Given the description of an element on the screen output the (x, y) to click on. 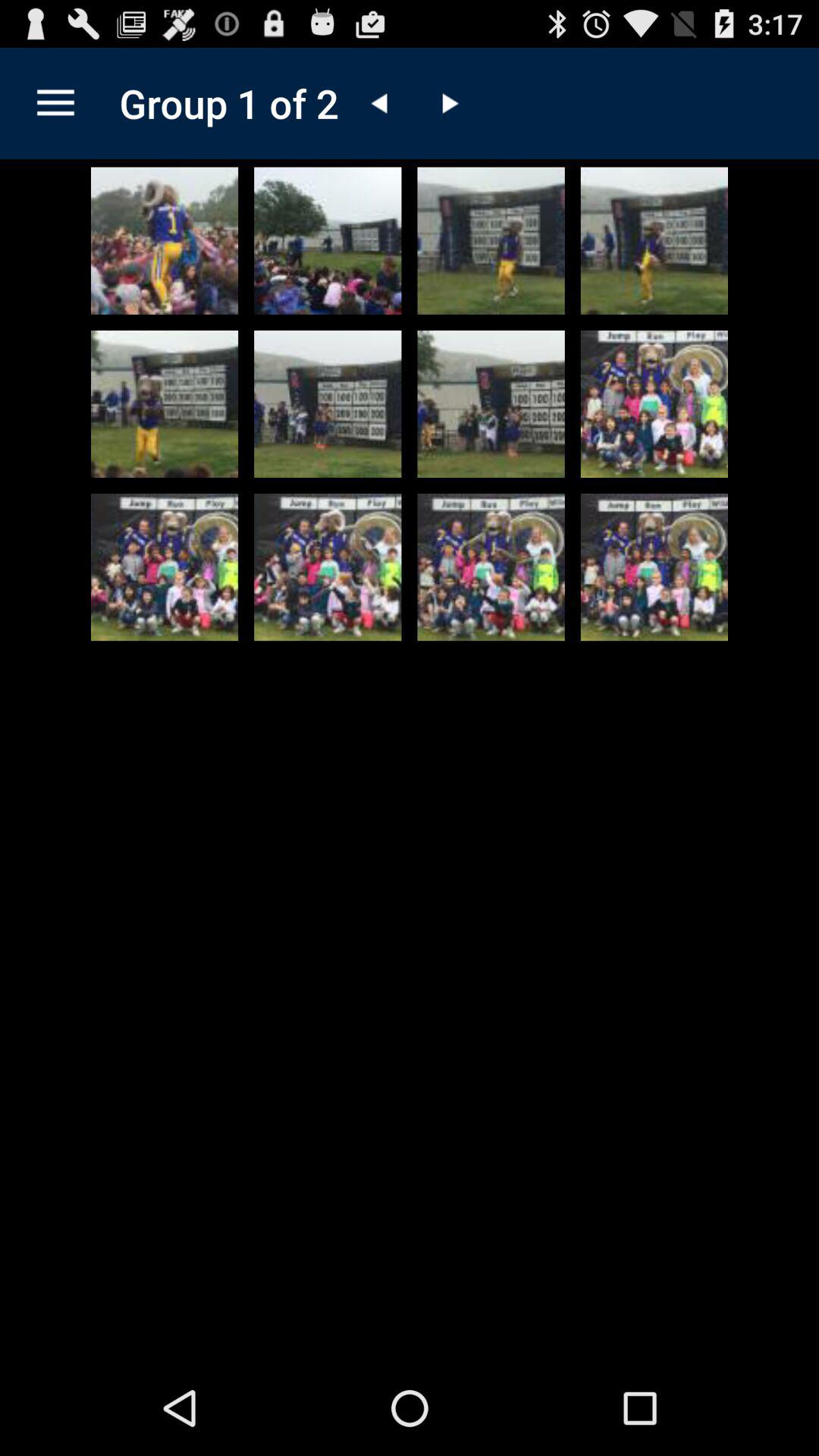
make this picture bigger (654, 240)
